Given the description of an element on the screen output the (x, y) to click on. 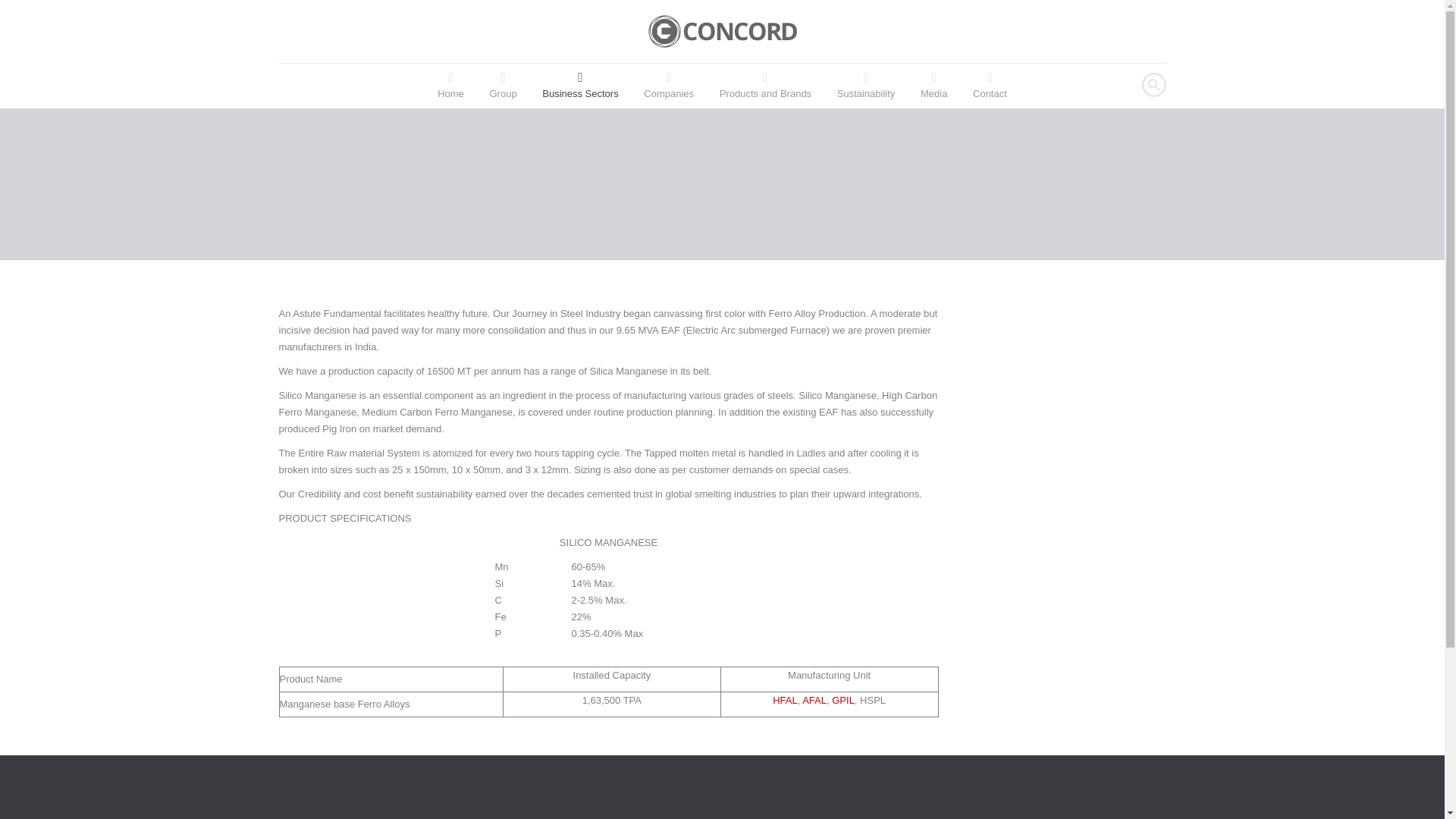
The Hira Group (721, 30)
Group (502, 85)
Business Sectors (579, 85)
Home (451, 85)
Companies (667, 85)
Products and Brands (764, 85)
